Given the description of an element on the screen output the (x, y) to click on. 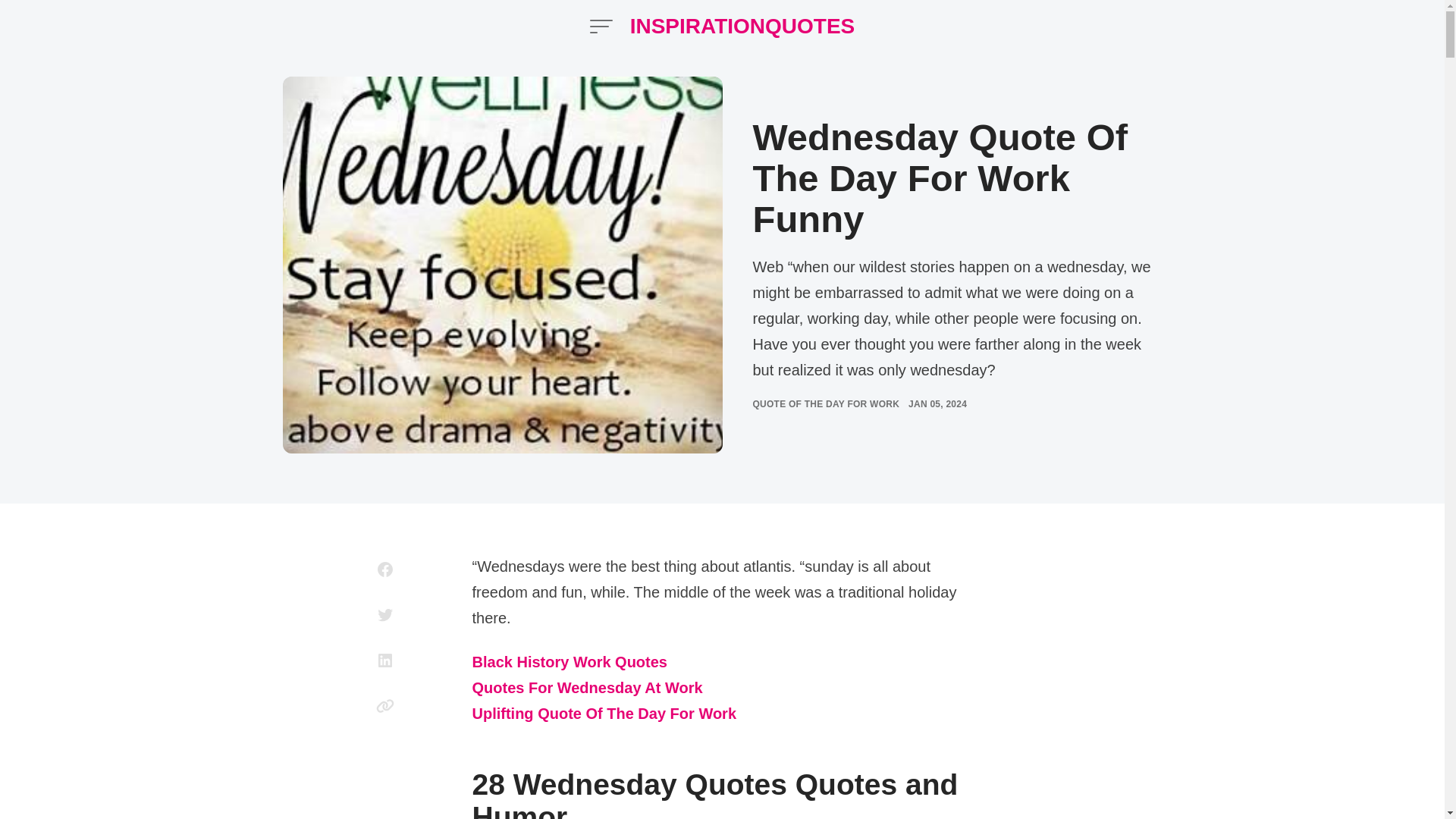
Share on Twitter (384, 615)
QUOTE OF THE DAY FOR WORK (825, 403)
Quotes For Wednesday At Work (586, 688)
Share on LinkedIn (384, 660)
Copy link (384, 705)
Share on Facebook (384, 569)
INSPIRATIONQUOTES (743, 26)
Uplifting Quote Of The Day For Work (603, 714)
Black History Work Quotes (568, 662)
